Given the description of an element on the screen output the (x, y) to click on. 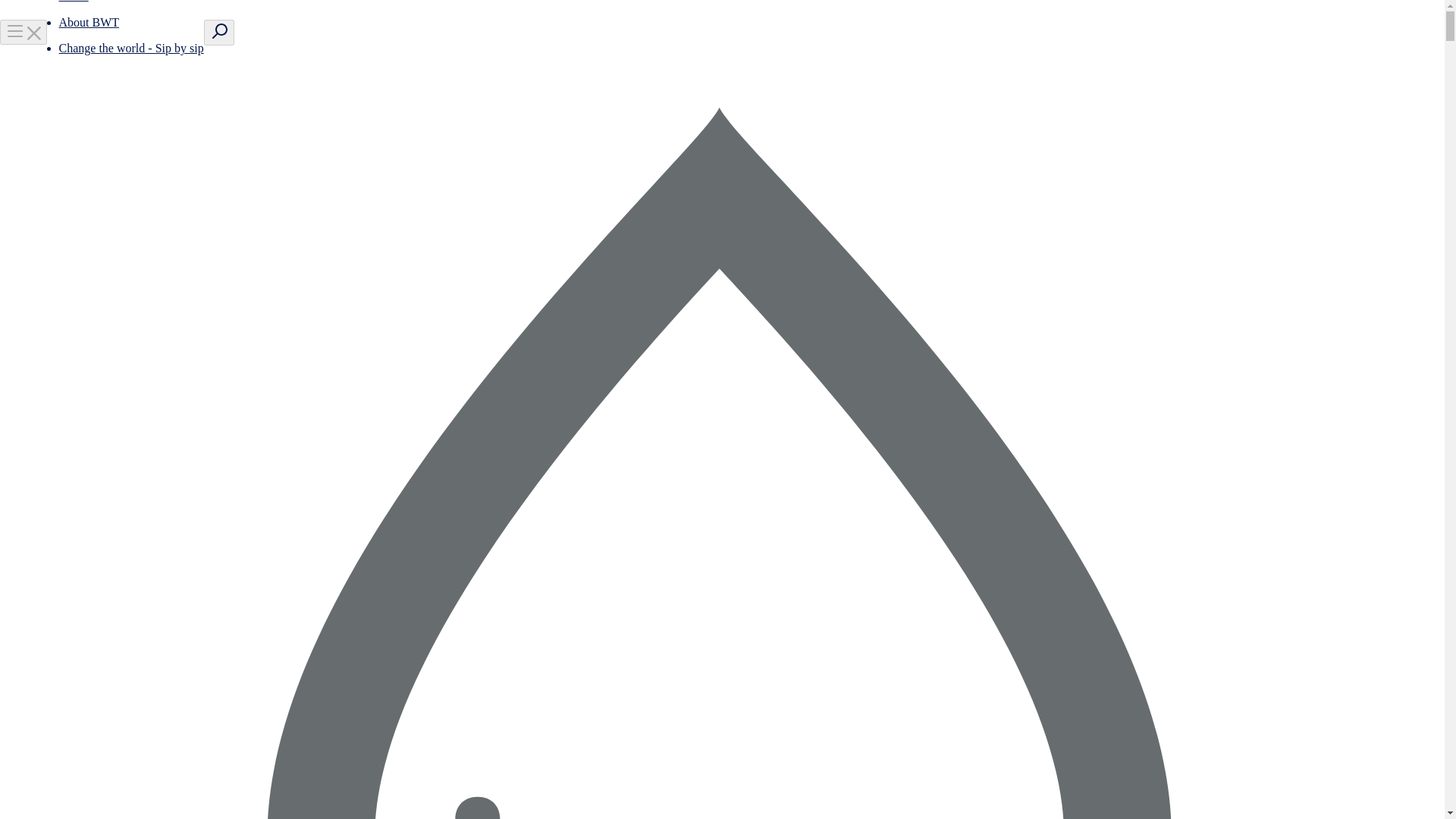
Home (73, 1)
Change the world - Sip by sip (131, 47)
About BWT (89, 21)
